Given the description of an element on the screen output the (x, y) to click on. 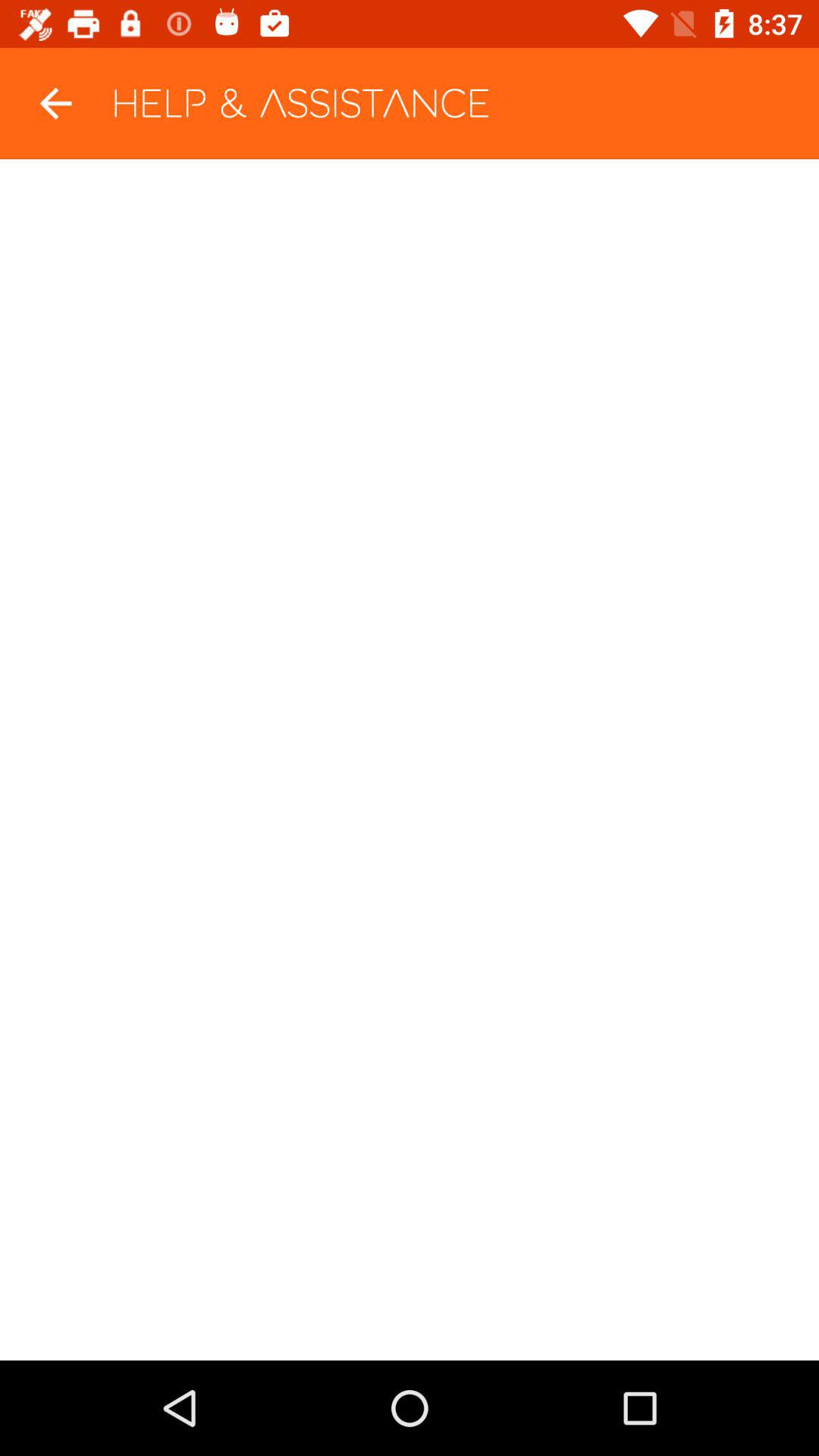
select item at the center (409, 759)
